Given the description of an element on the screen output the (x, y) to click on. 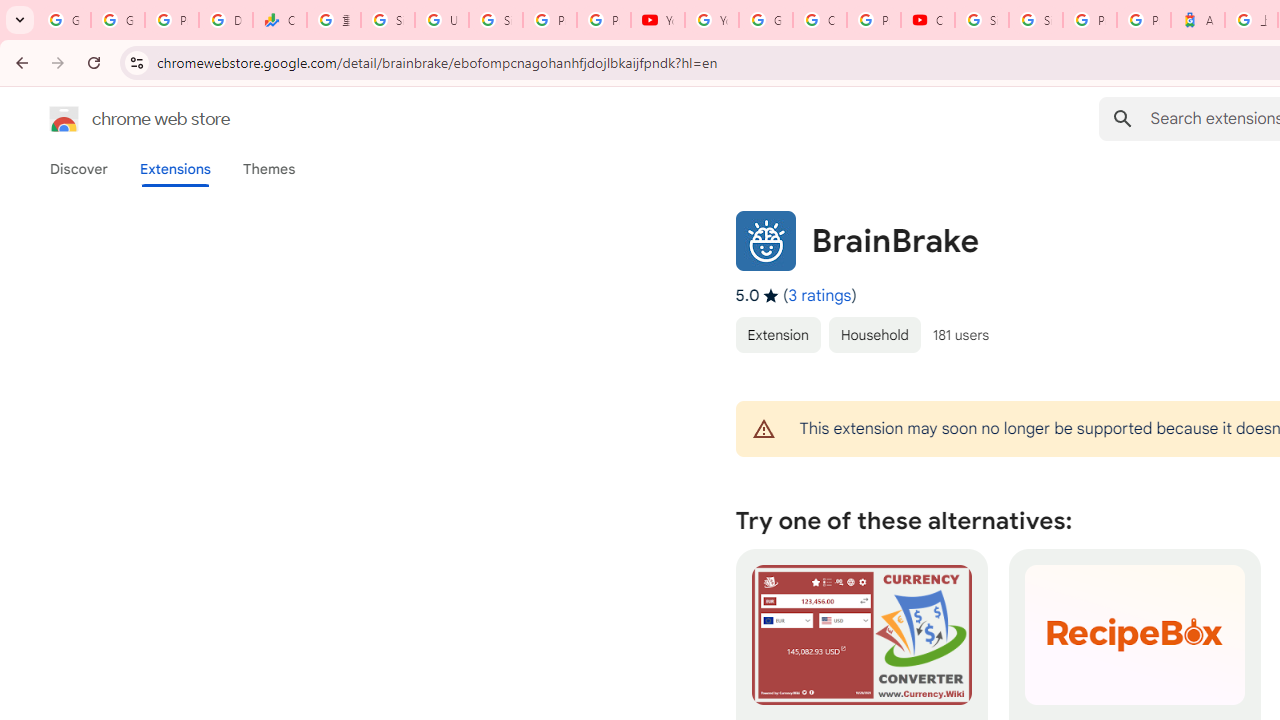
Extensions (174, 169)
Themes (269, 169)
Currencies - Google Finance (280, 20)
Privacy Checkup (604, 20)
Sign in - Google Accounts (495, 20)
Google Account Help (765, 20)
Content Creator Programs & Opportunities - YouTube Creators (927, 20)
Chrome Web Store logo (63, 118)
YouTube (711, 20)
